Given the description of an element on the screen output the (x, y) to click on. 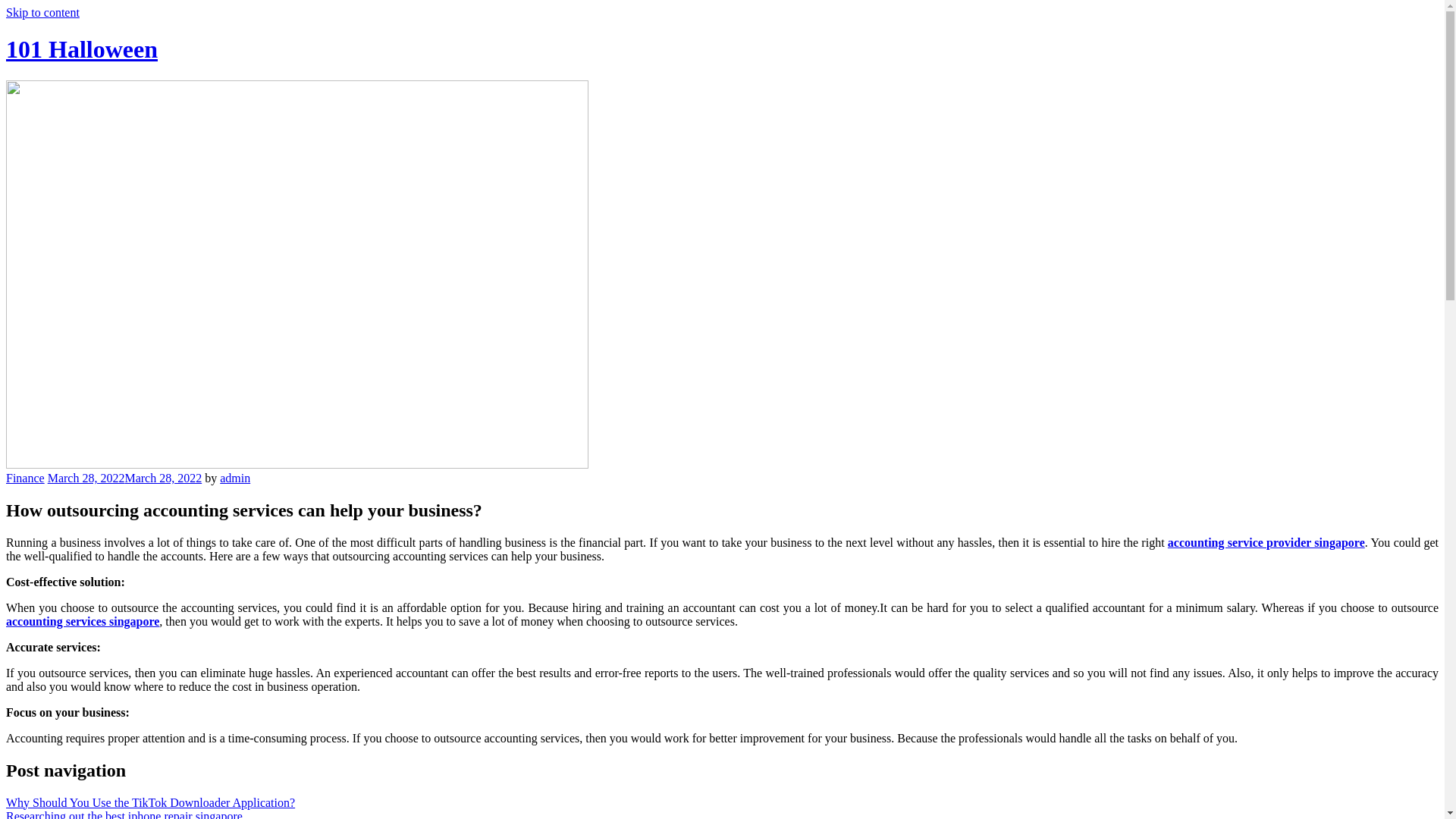
March 28, 2022March 28, 2022 Element type: text (124, 477)
101 Halloween Element type: text (81, 48)
Why Should You Use the TikTok Downloader Application? Element type: text (150, 802)
accounting services singapore Element type: text (82, 621)
Finance Element type: text (25, 477)
accounting service provider singapore Element type: text (1266, 542)
admin Element type: text (234, 477)
Skip to content Element type: text (42, 12)
